Given the description of an element on the screen output the (x, y) to click on. 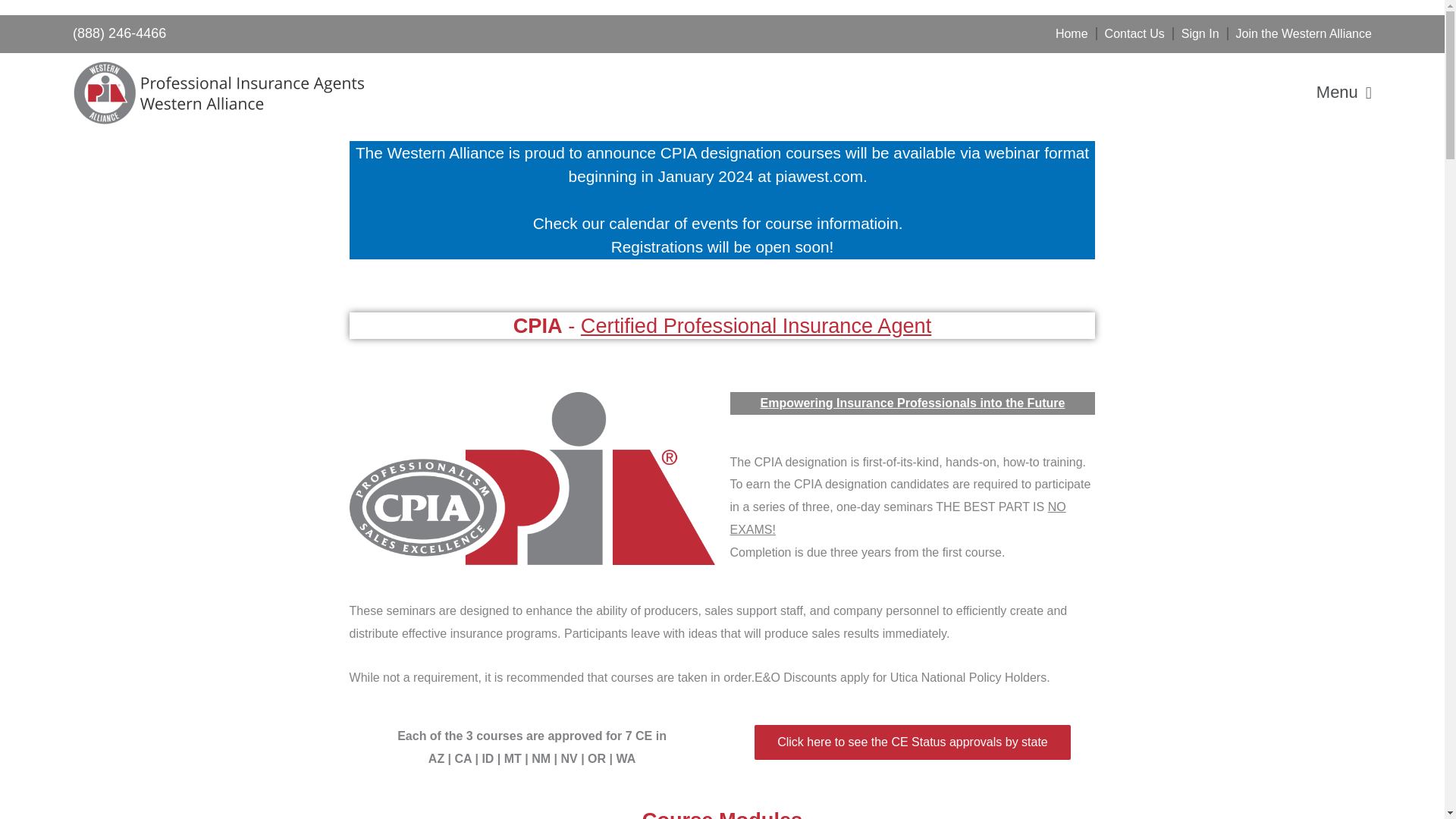
Sign In (1200, 33)
Home (1071, 33)
Join the Western Alliance (1303, 33)
Contact Us (1134, 33)
